Given the description of an element on the screen output the (x, y) to click on. 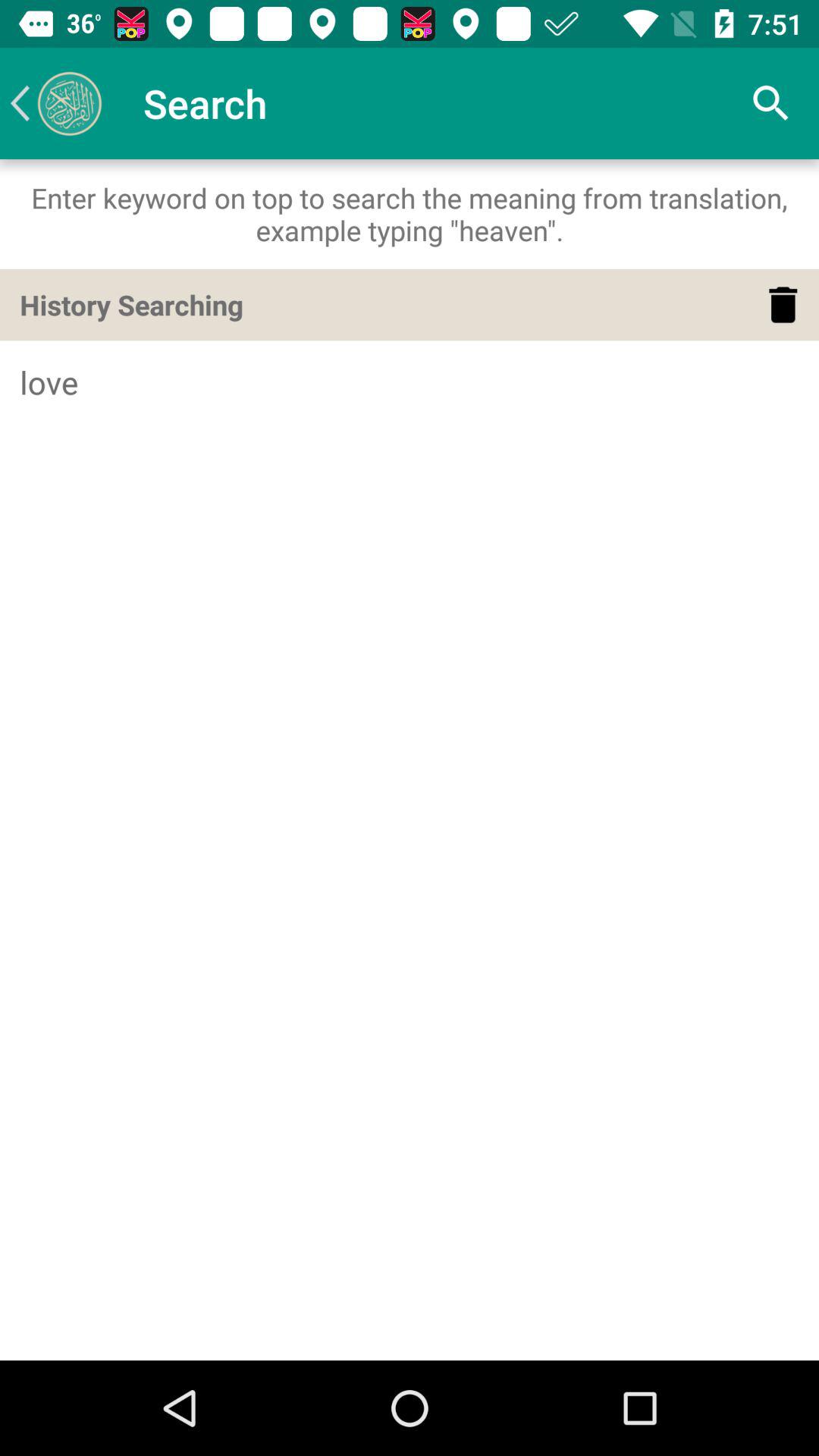
open the item next to the search icon (55, 103)
